Given the description of an element on the screen output the (x, y) to click on. 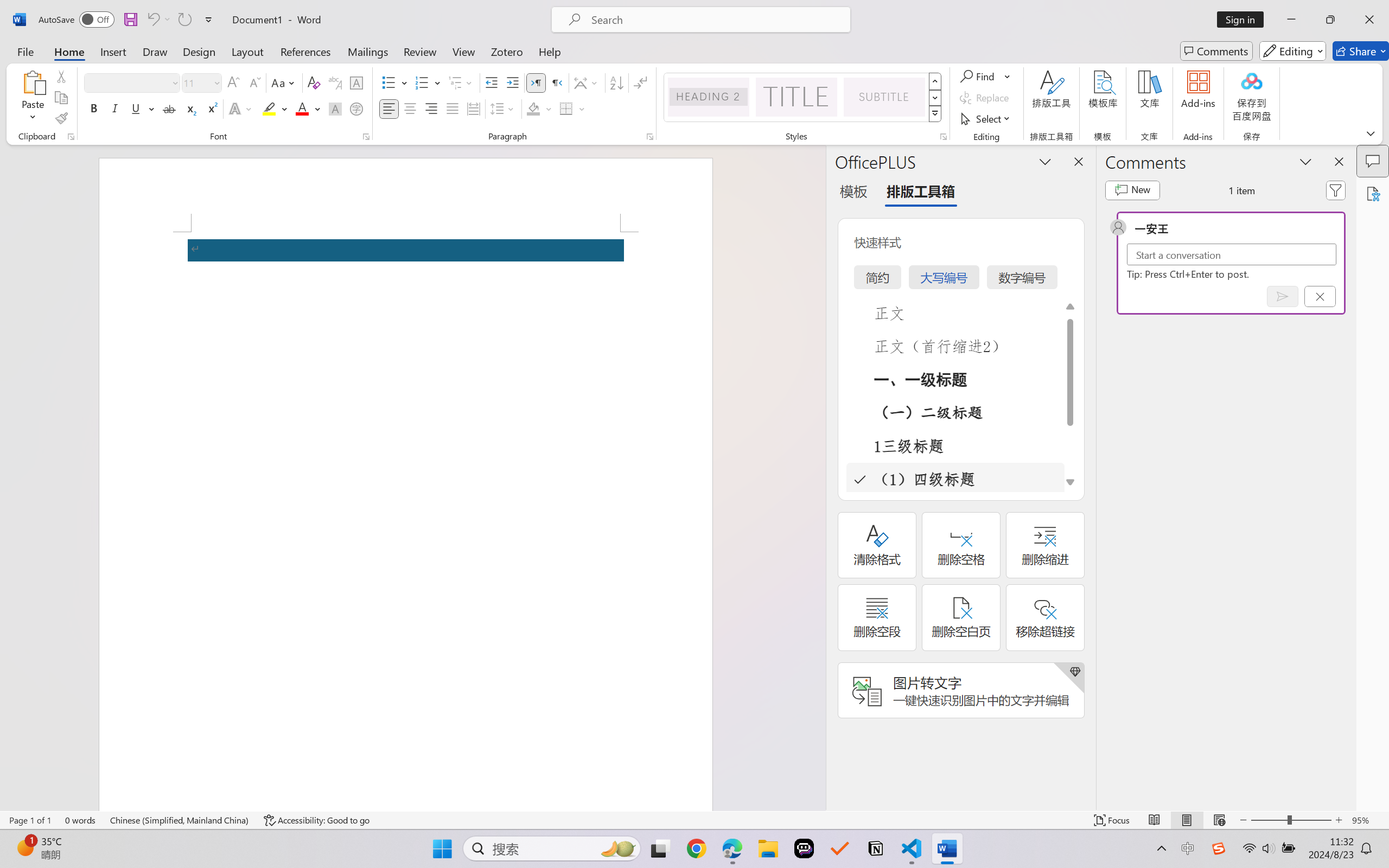
Right-to-Left (556, 82)
